Given the description of an element on the screen output the (x, y) to click on. 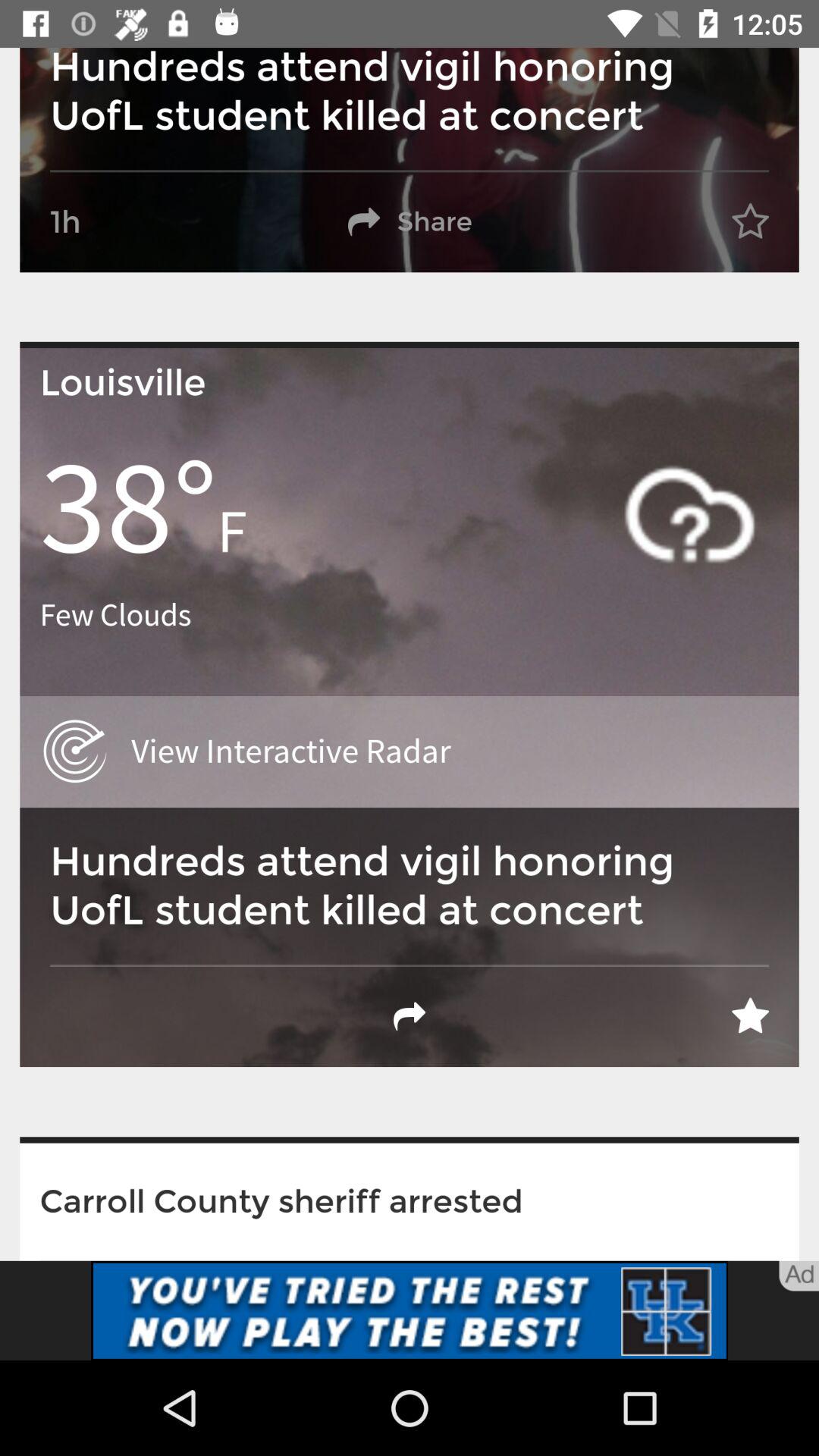
click on icon on the left side of view interactive radar (75, 751)
click on ad icon (799, 1275)
